Given the description of an element on the screen output the (x, y) to click on. 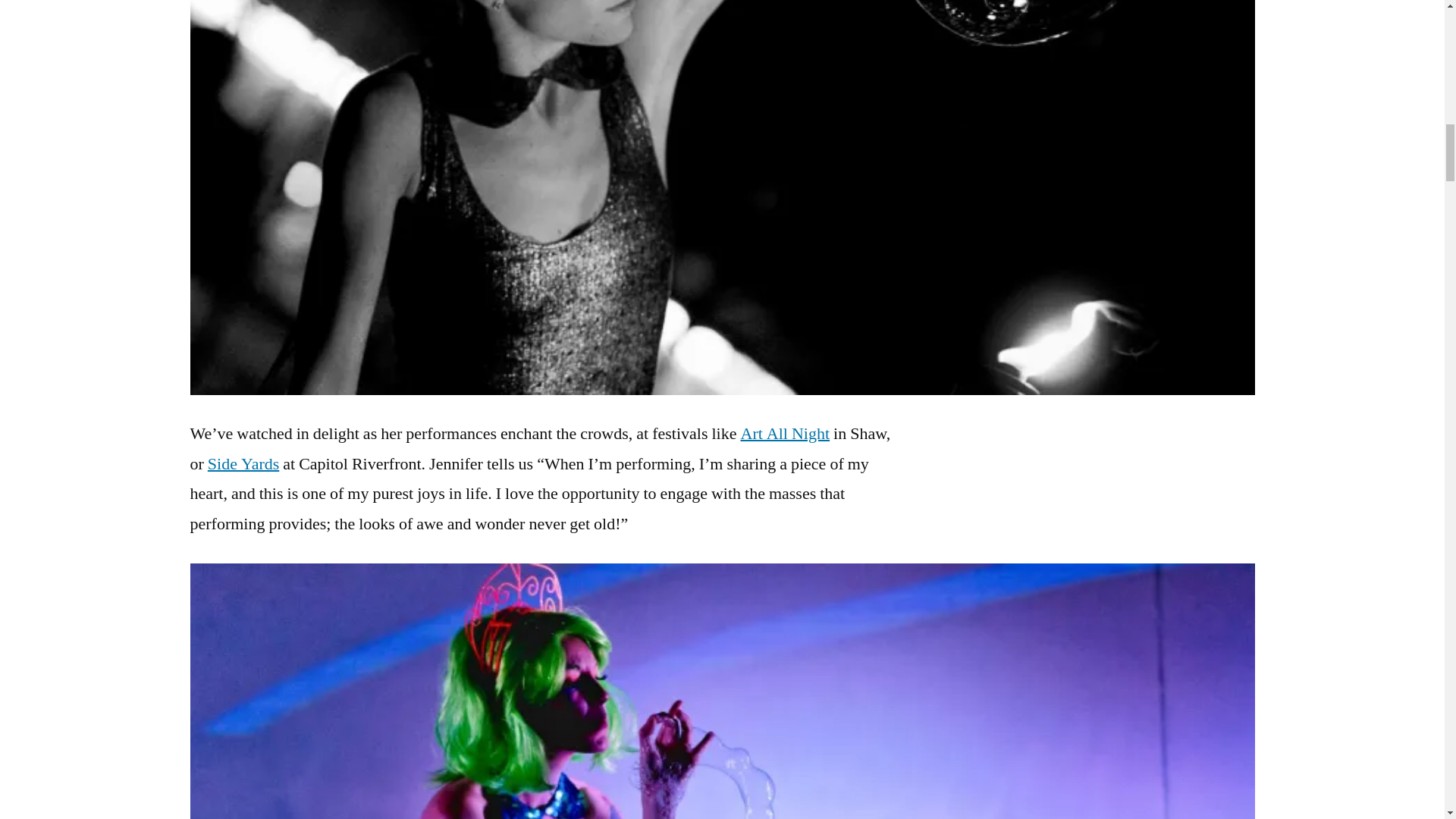
Side Yards (243, 464)
Art All Night (784, 433)
